Given the description of an element on the screen output the (x, y) to click on. 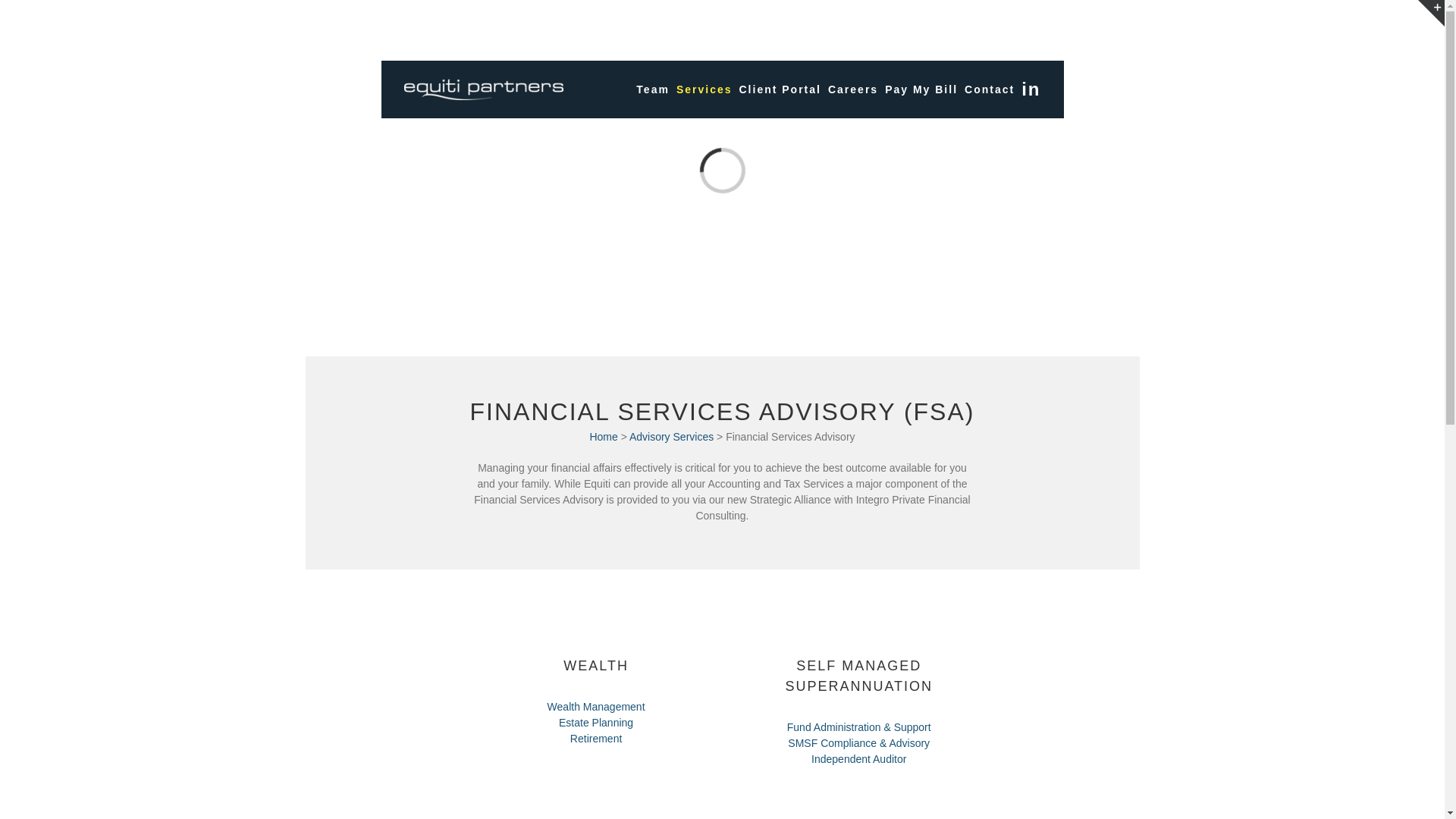
Services Element type: text (704, 89)
Pay My Bill Element type: text (920, 89)
Home Element type: text (604, 436)
Estate Planning Element type: text (595, 722)
Independent Auditor Element type: text (858, 759)
Contact Element type: text (989, 89)
Retirement Element type: text (595, 738)
Client Portal Element type: text (779, 89)
SELF MANAGED SUPERANNUATION Element type: text (858, 675)
Team Element type: text (654, 89)
SMSF Compliance & Advisory Element type: text (858, 743)
Careers Element type: text (853, 89)
Advisory Services Element type: text (671, 436)
Fund Administration & Support Element type: text (859, 727)
Wealth Management Element type: text (596, 706)
WEALTH Element type: text (595, 665)
